Given the description of an element on the screen output the (x, y) to click on. 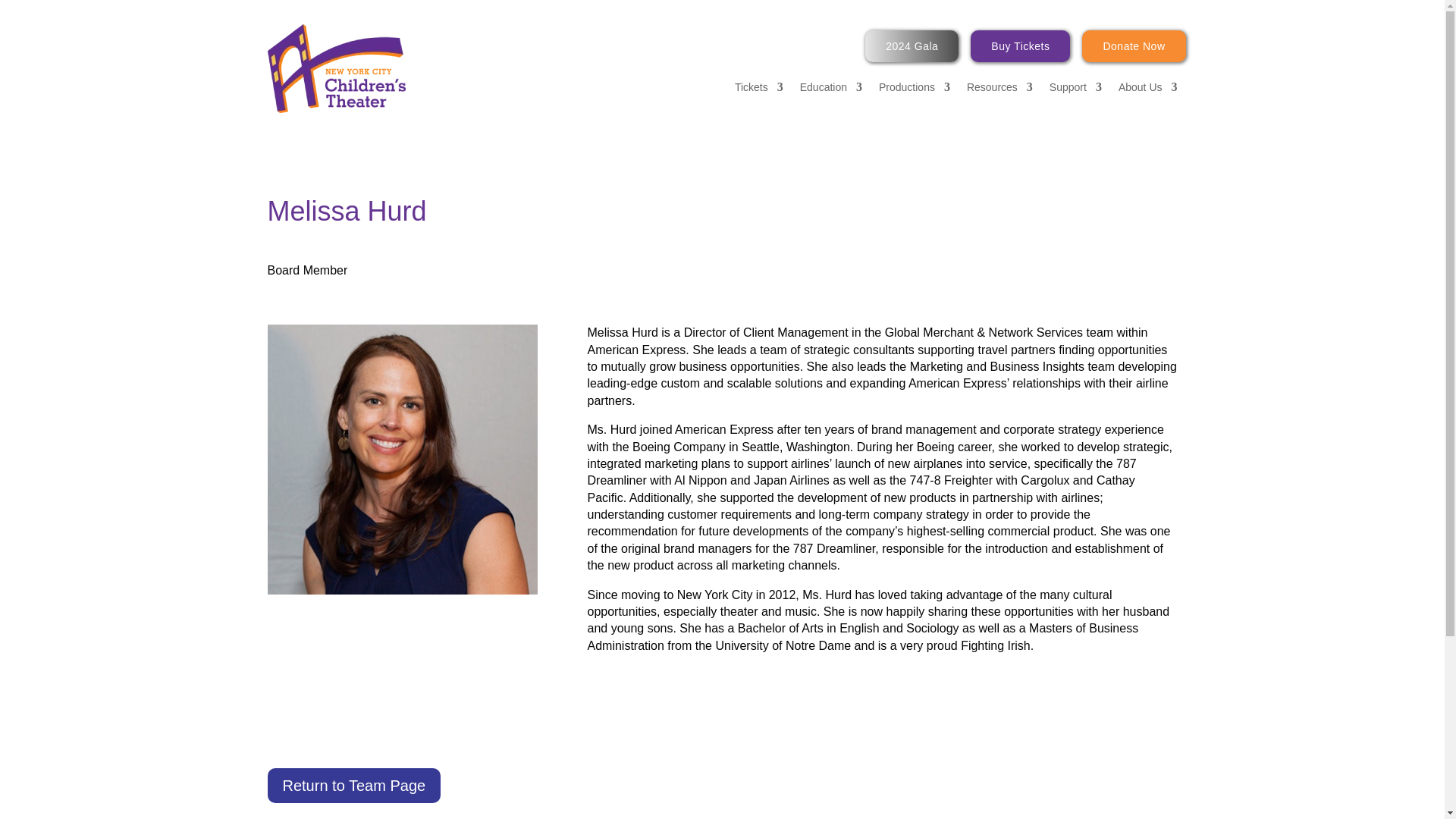
Support (1075, 89)
Tickets (759, 89)
Productions (914, 89)
Buy Tickets (1020, 46)
Melissa-Hurd-headshot2 (401, 459)
About Us (1147, 89)
NYCCT logo for header (335, 68)
Education (830, 89)
2024 Gala (912, 46)
Resources (999, 89)
